Given the description of an element on the screen output the (x, y) to click on. 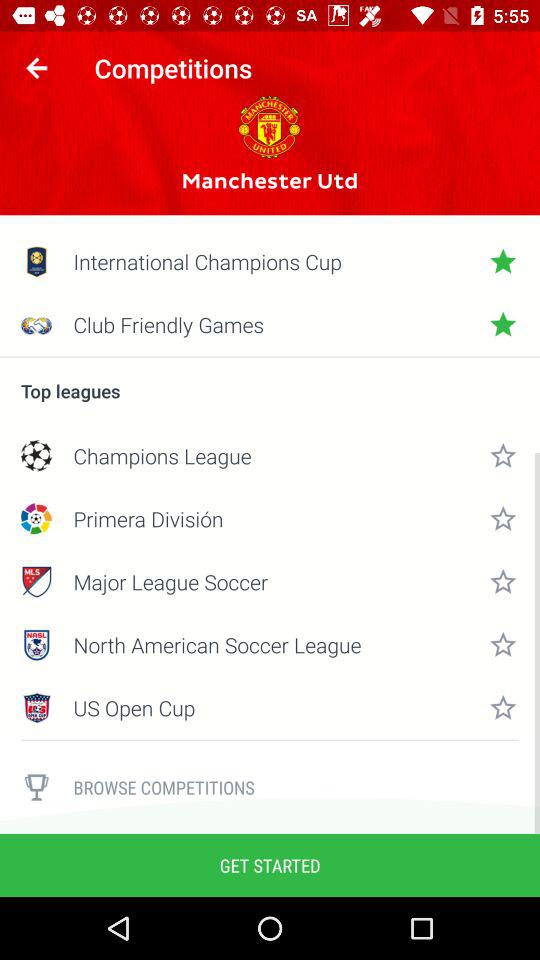
select the icon below north american soccer item (269, 707)
